Given the description of an element on the screen output the (x, y) to click on. 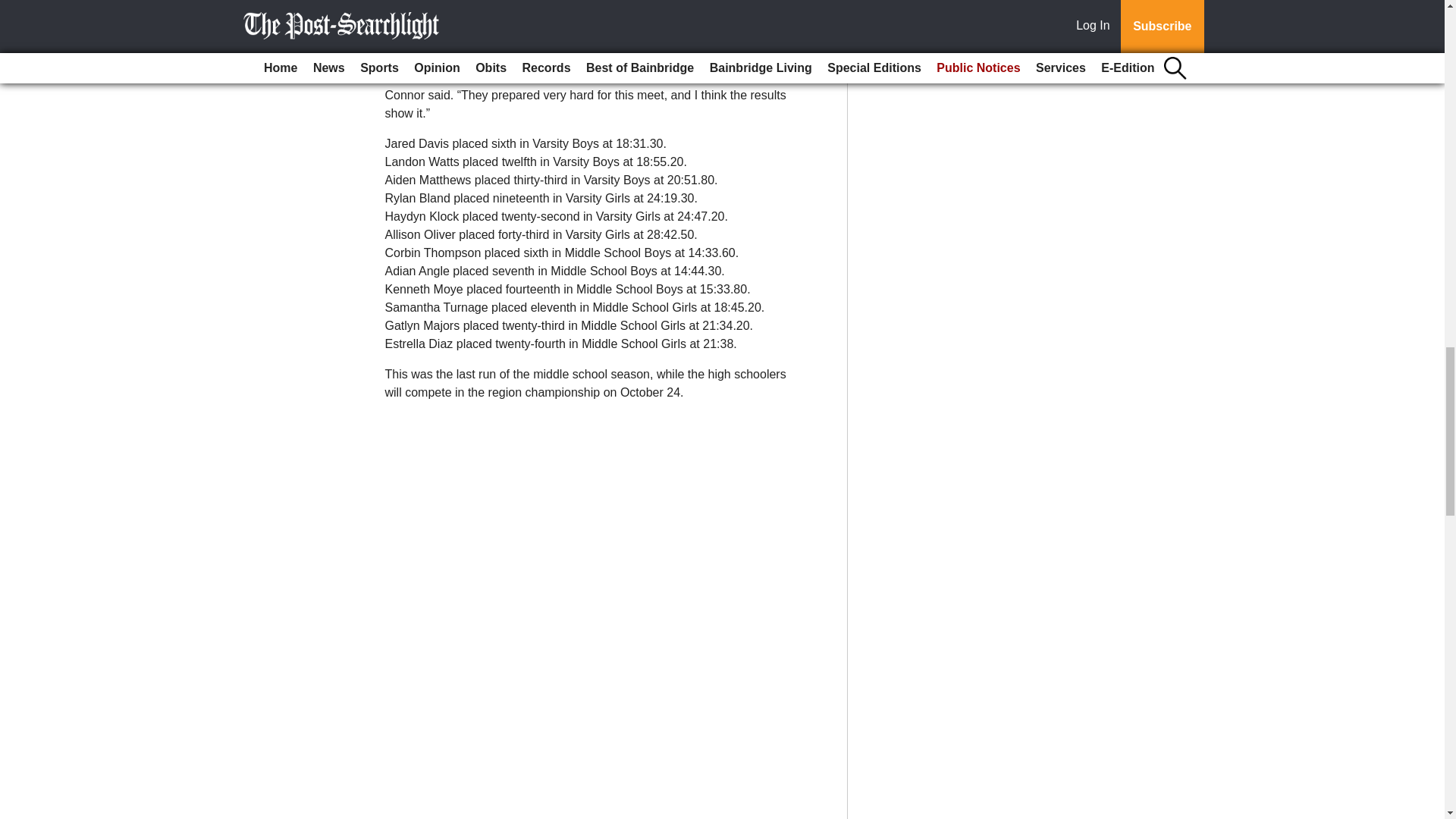
Subscribe (434, 27)
Subscribe (434, 27)
